Given the description of an element on the screen output the (x, y) to click on. 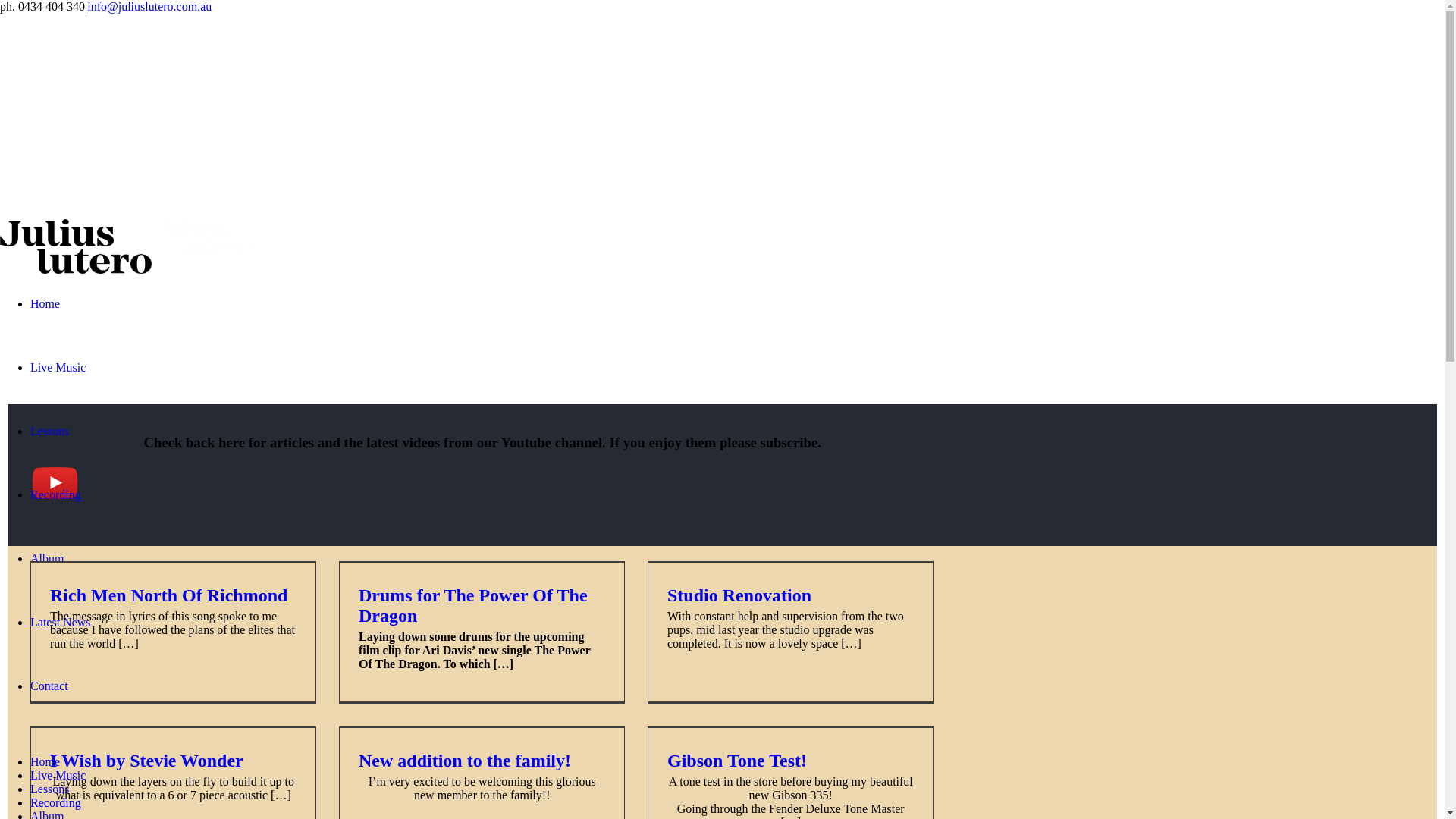
Drums for The Power Of The Dragon Element type: text (472, 605)
Album Element type: text (46, 583)
Latest News Element type: text (60, 647)
Lessons Element type: text (49, 789)
New addition to the family! Element type: text (464, 760)
Rich Men North Of Richmond Element type: text (168, 595)
Live Music Element type: text (57, 775)
Home Element type: text (44, 328)
Recording Element type: text (55, 520)
Contact Element type: text (49, 711)
I Wish by Stevie Wonder Element type: text (146, 760)
Lessons Element type: text (49, 456)
Recording Element type: text (55, 802)
Studio Renovation Element type: text (739, 595)
info@juliuslutero.com.au Element type: text (149, 6)
Live Music Element type: text (57, 392)
Home Element type: text (44, 761)
Gibson Tone Test! Element type: text (736, 760)
